Given the description of an element on the screen output the (x, y) to click on. 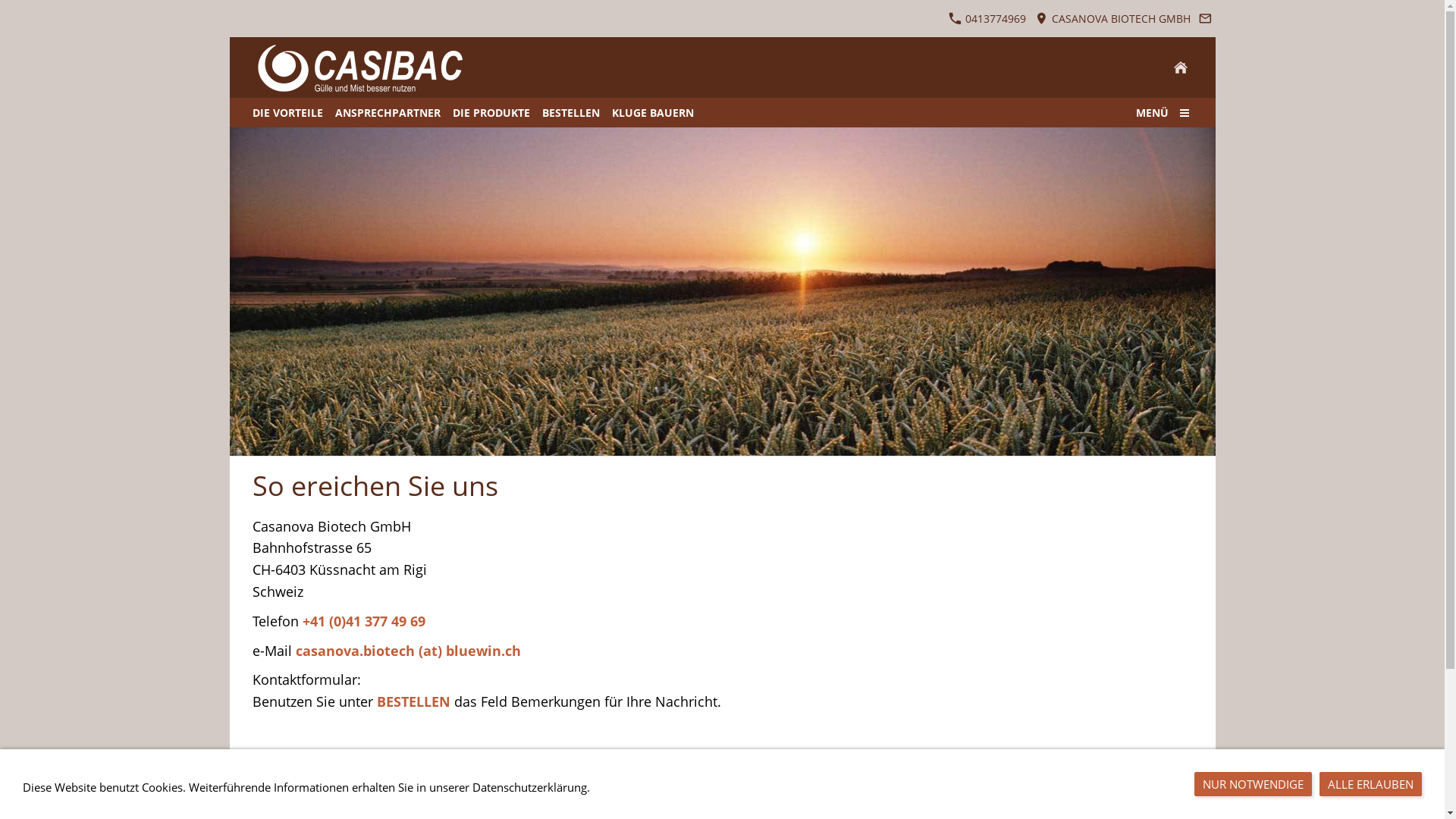
DIE PRODUKTE Element type: text (490, 112)
KLUGE BAUERN Element type: text (652, 112)
DIE VORTEILE Element type: text (286, 112)
BESTELLEN Element type: text (570, 112)
ALLE ERLAUBEN Element type: text (1370, 783)
casanova.biotech (at) bluewin.ch Element type: text (407, 650)
Senden Sie uns eine E-Mail-Nachricht Element type: hover (1205, 18)
BESTELLEN Element type: text (412, 701)
 0413774969 Element type: text (986, 18)
ANSPRECHPARTNER Element type: text (387, 112)
+41 (0)41 377 49 69 Element type: text (362, 621)
NUR NOTWENDIGE Element type: text (1252, 783)
